Given the description of an element on the screen output the (x, y) to click on. 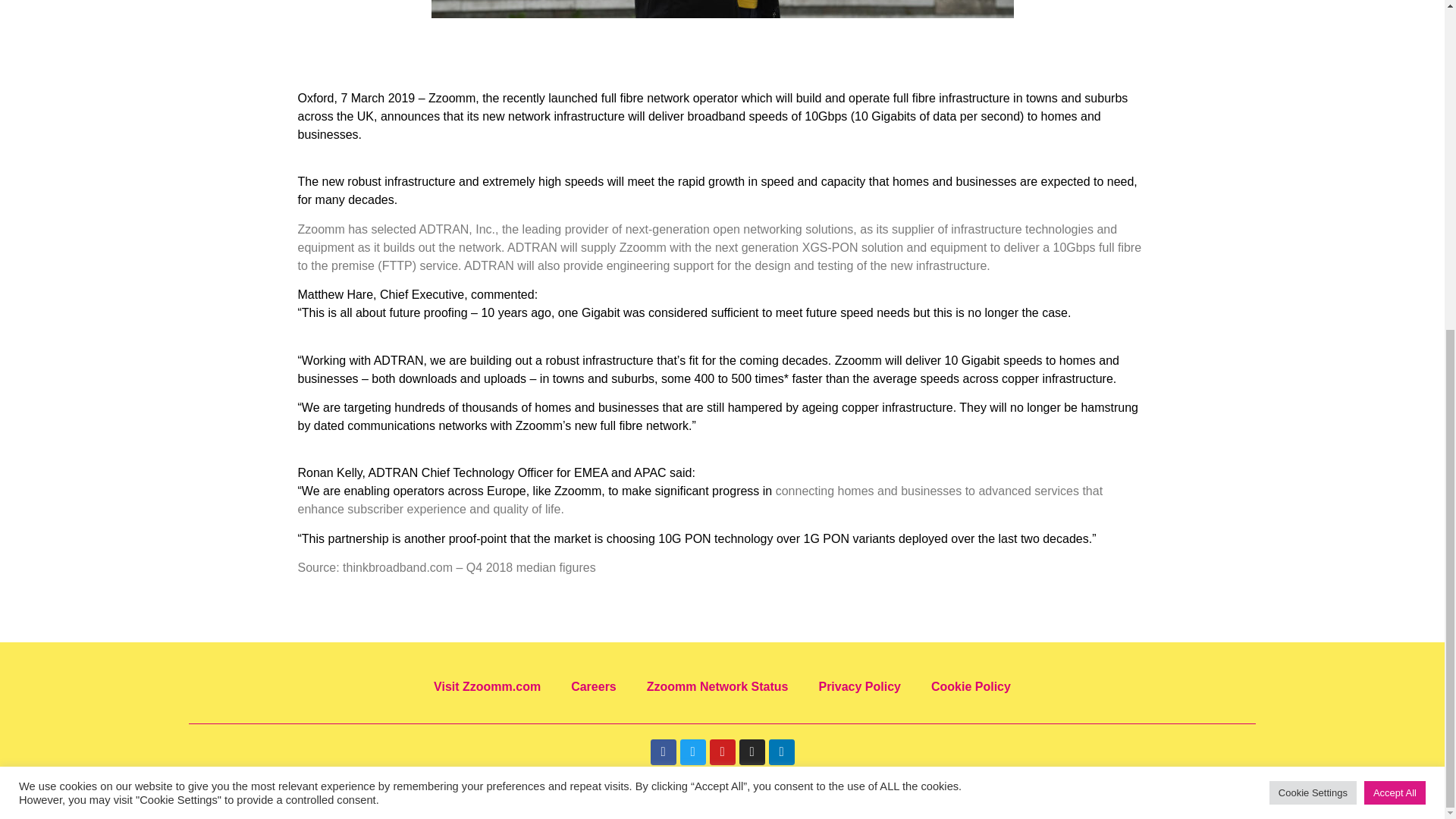
Visit Zzoomm.com (487, 686)
Careers (593, 686)
Zzoomm Network Status (717, 686)
